Given the description of an element on the screen output the (x, y) to click on. 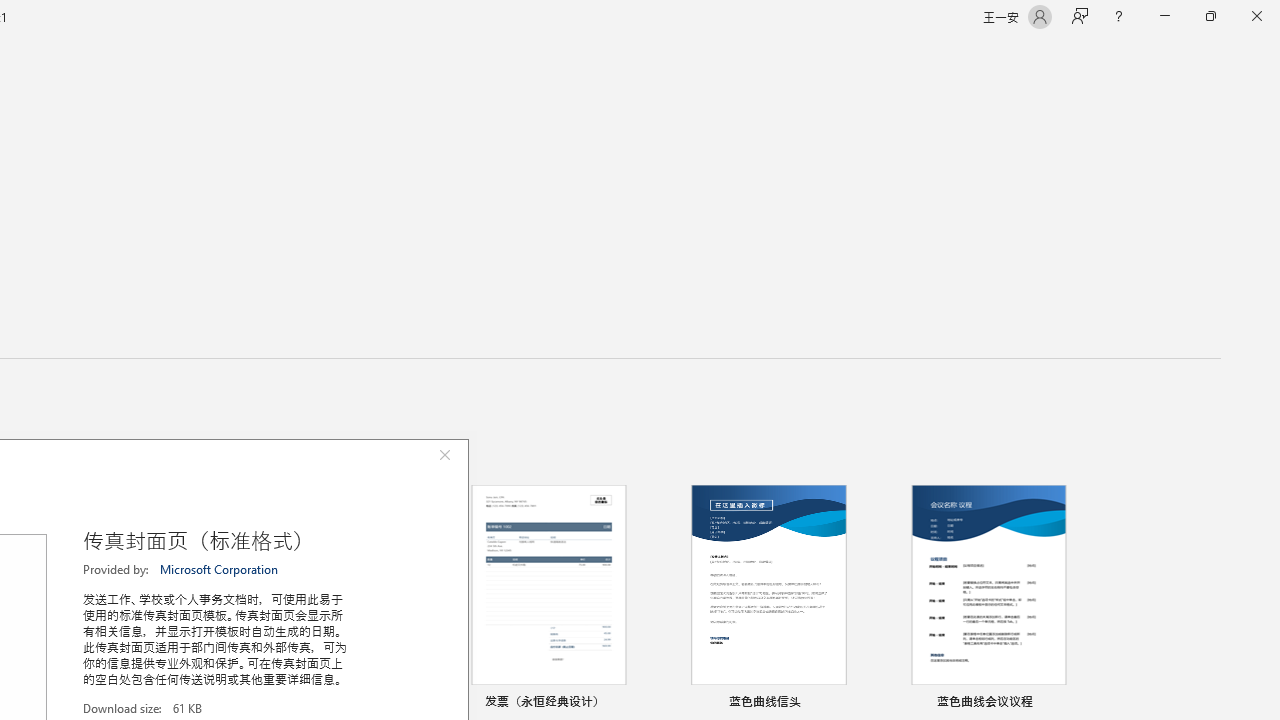
Microsoft Corporation (220, 569)
Pin to list (1075, 703)
